Given the description of an element on the screen output the (x, y) to click on. 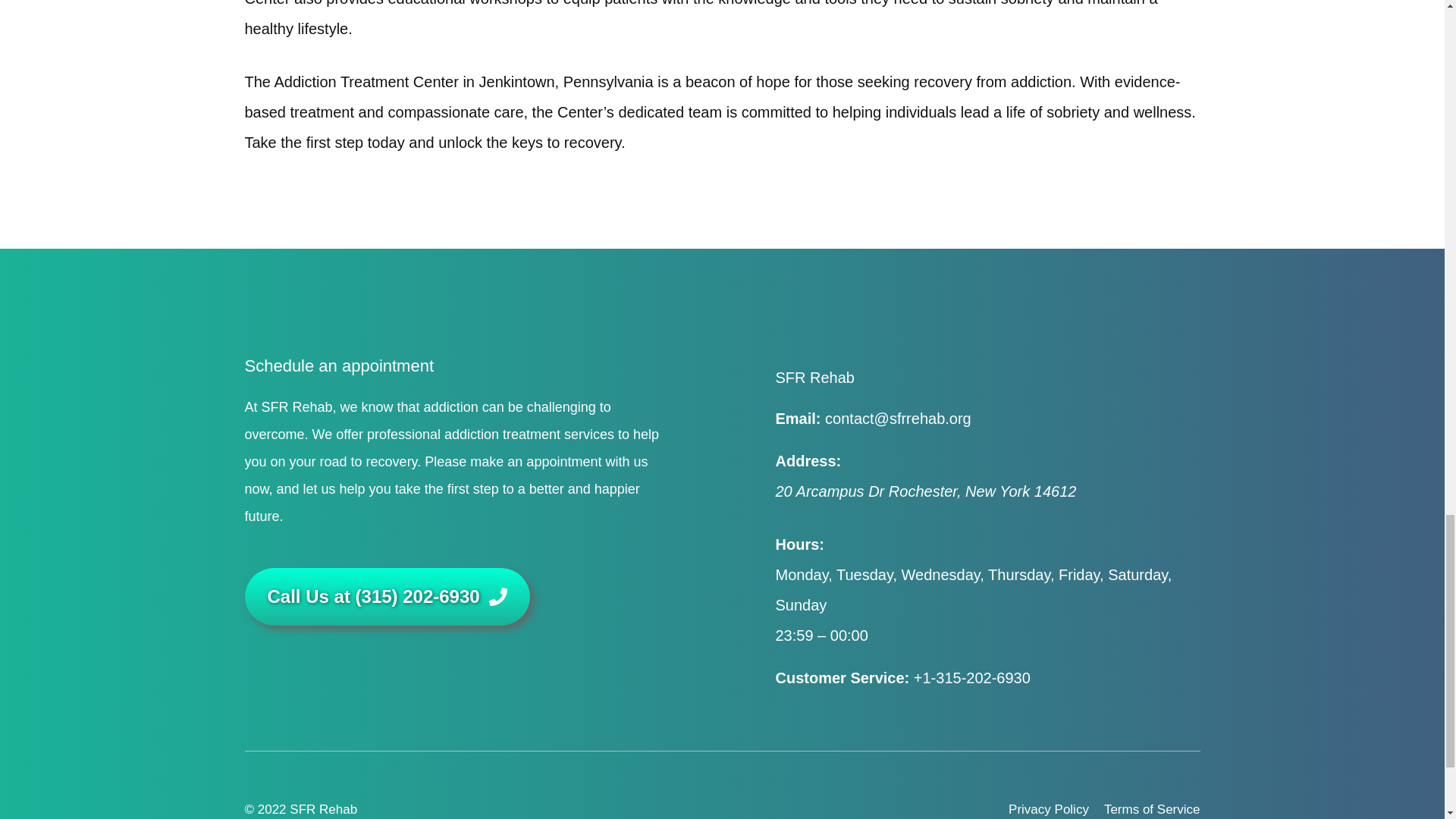
SFR Rehab (322, 809)
Privacy Policy (1049, 807)
SFR Rehab (814, 377)
Terms of Service (1151, 807)
